Given the description of an element on the screen output the (x, y) to click on. 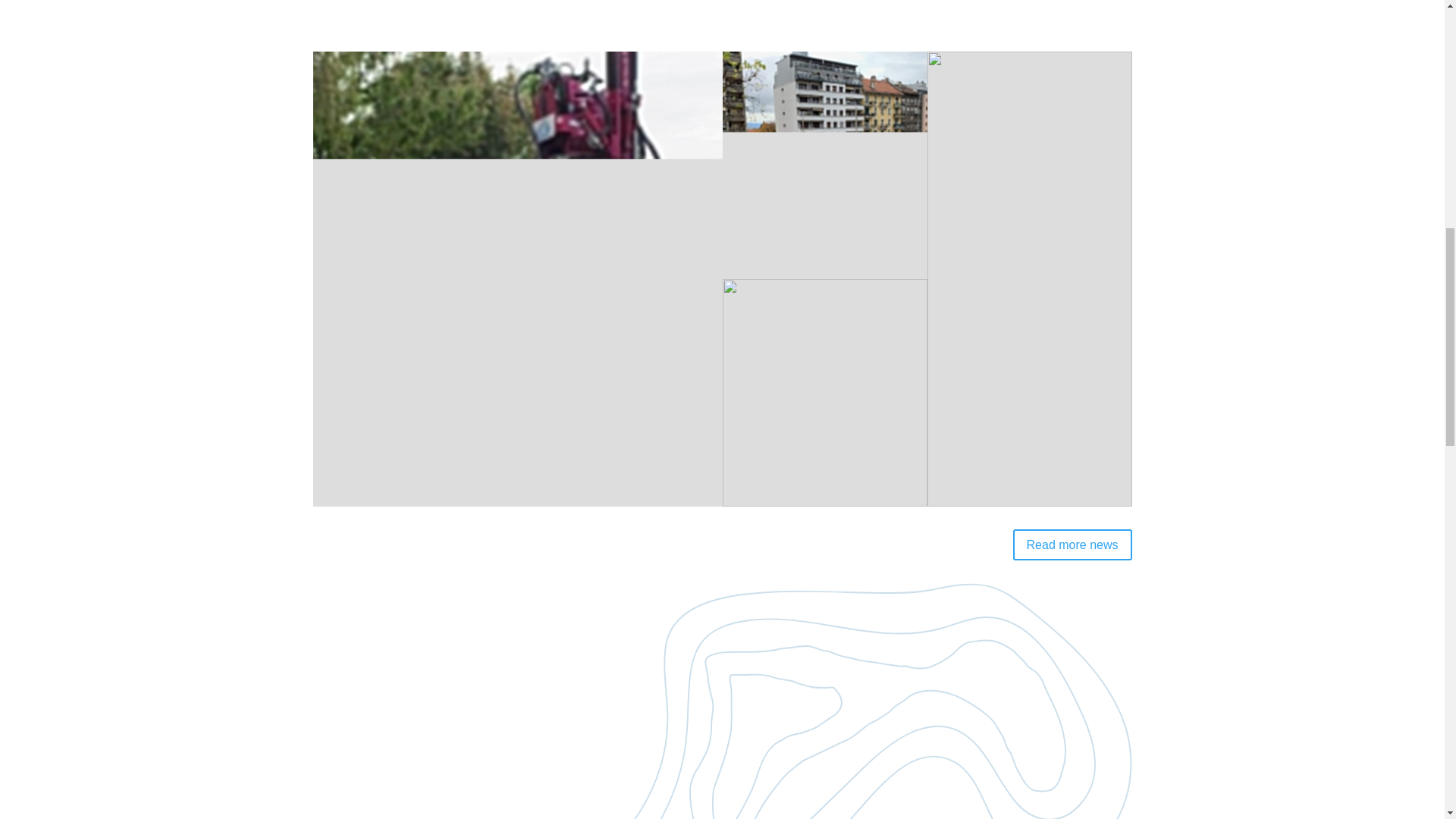
Read more news (1072, 544)
